Given the description of an element on the screen output the (x, y) to click on. 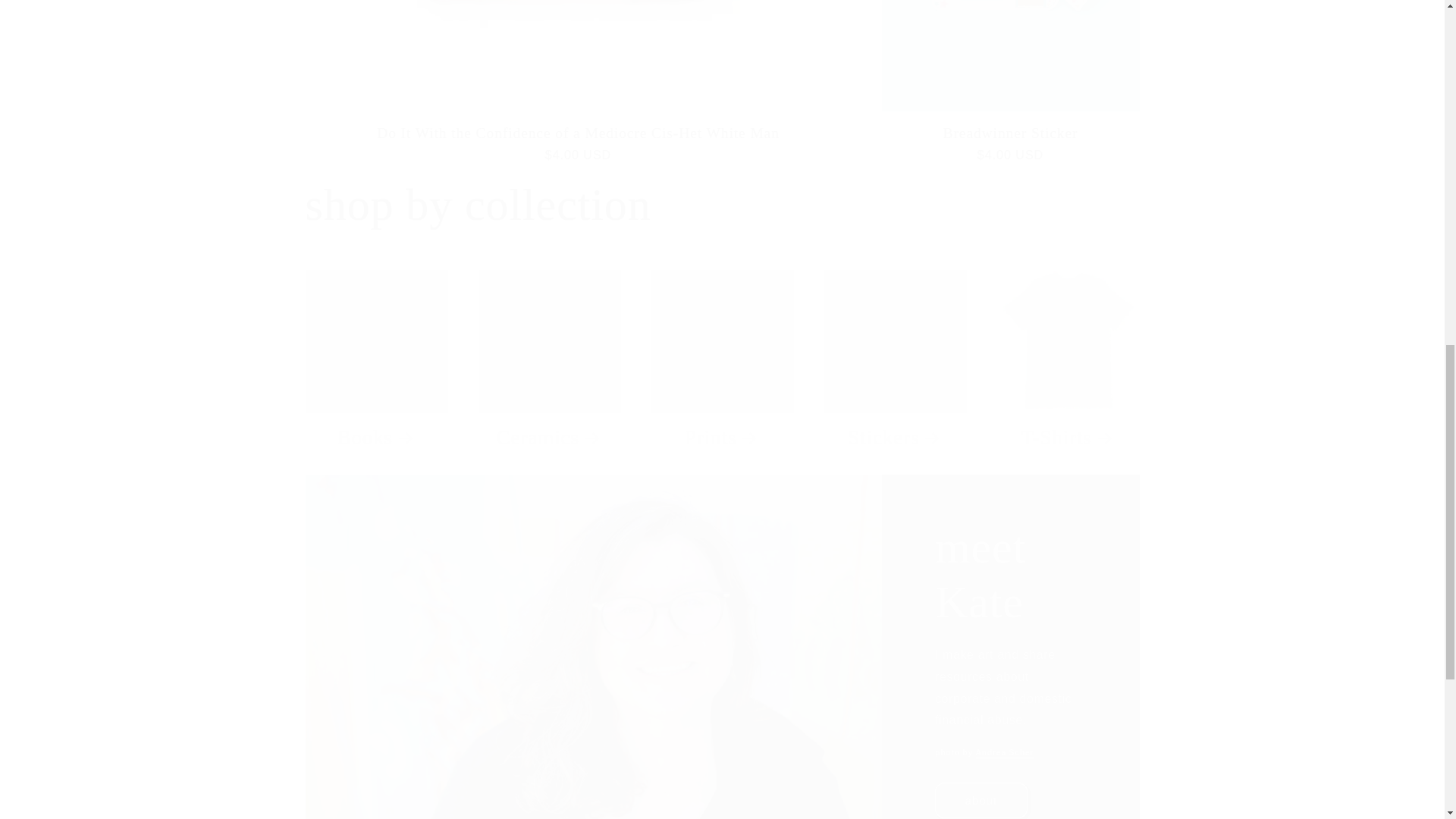
shop by collection (477, 204)
